Given the description of an element on the screen output the (x, y) to click on. 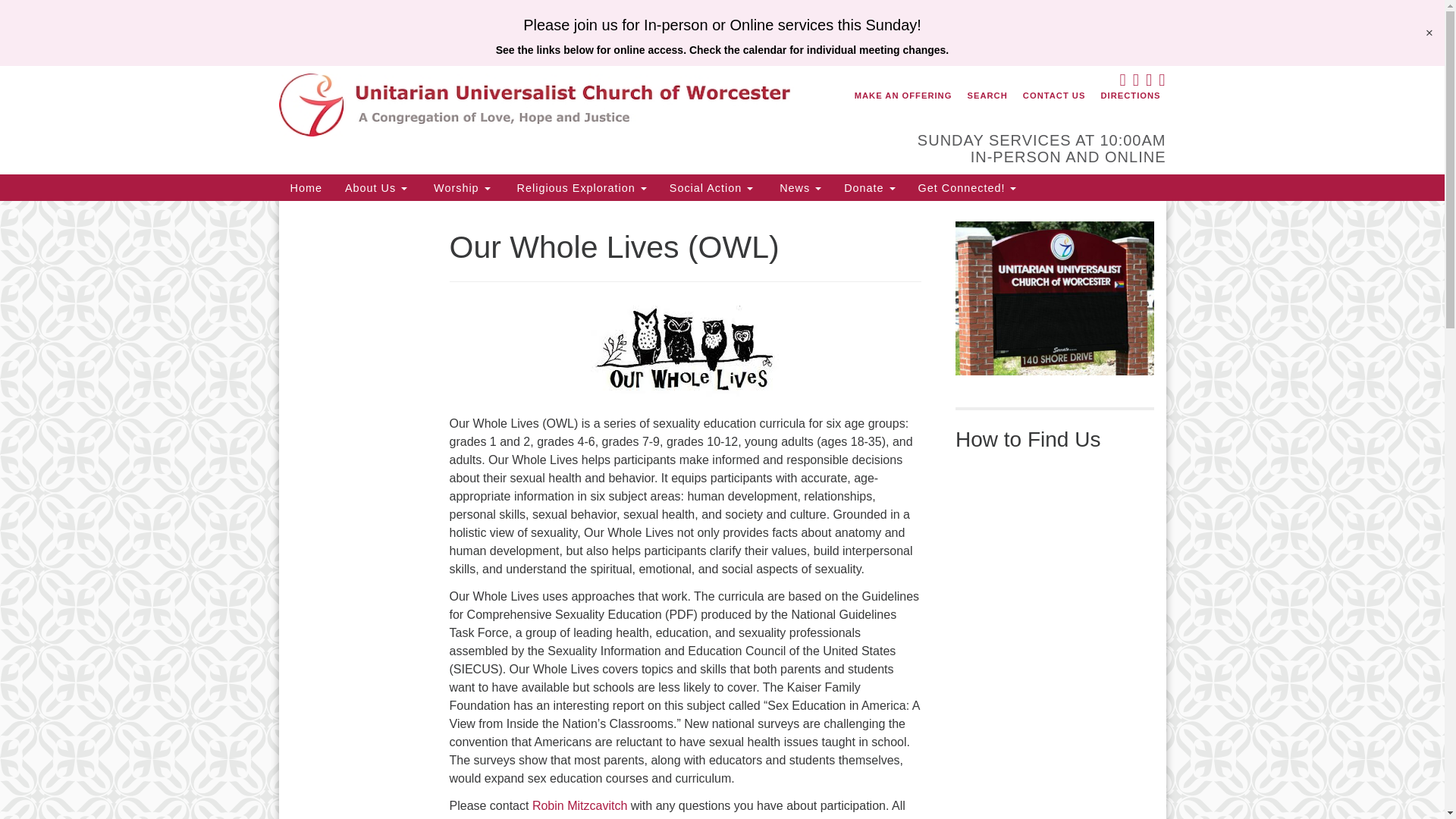
Home (306, 187)
CONTACT US (1053, 95)
SEARCH (985, 95)
FACEBOOK (1120, 81)
About Us (376, 187)
About Us (376, 187)
Home (306, 187)
Worship (460, 187)
YOUTUBE (1147, 81)
 Worship (460, 187)
DIRECTIONS (1130, 95)
 Religious Exploration (580, 187)
INSTAGRAM (1161, 81)
TWITTER (1134, 81)
